Given the description of an element on the screen output the (x, y) to click on. 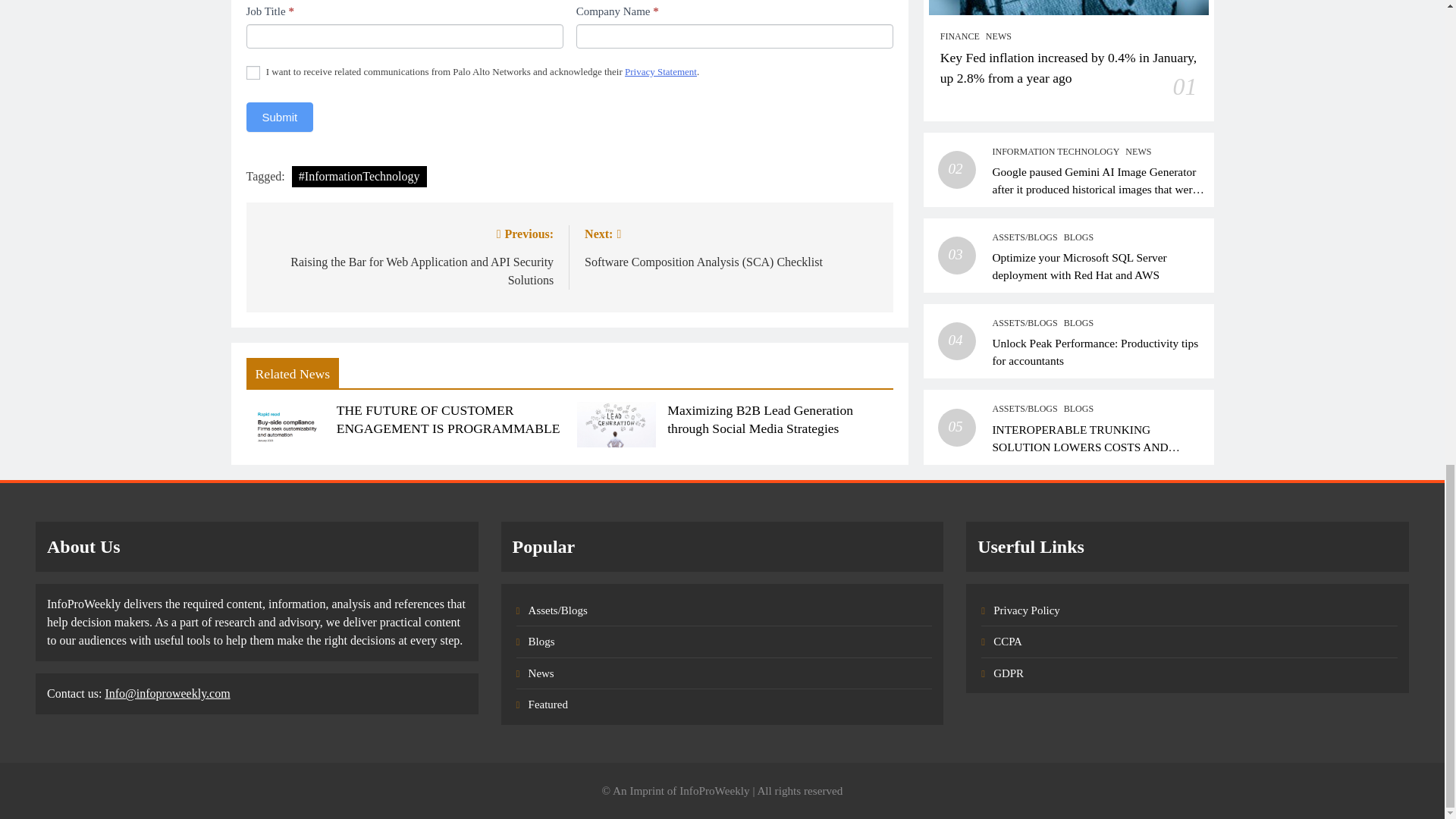
Privacy Statement (660, 71)
THE FUTURE OF CUSTOMER ENGAGEMENT IS PROGRAMMABLE (448, 418)
Submit (279, 116)
